Given the description of an element on the screen output the (x, y) to click on. 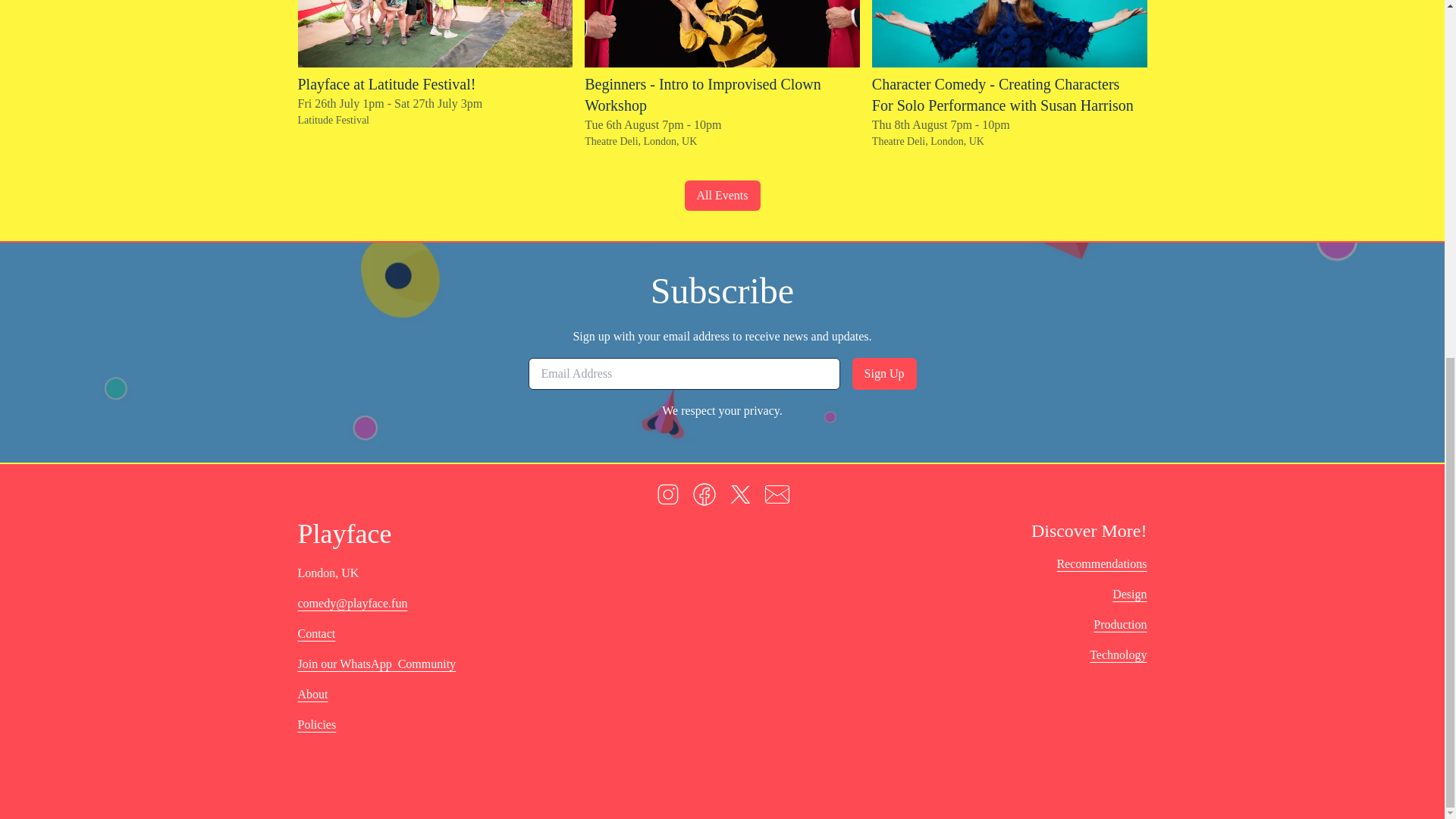
All Events (722, 195)
Recommendations (1102, 564)
Join our WhatsApp Community (376, 664)
Sign Up (884, 373)
Technology (1118, 655)
Design (1129, 594)
Play Workshop at Glastonbury (434, 33)
About (312, 694)
Susan Harrison (1009, 33)
Policies (316, 724)
Production (1120, 624)
Contact (315, 633)
